Given the description of an element on the screen output the (x, y) to click on. 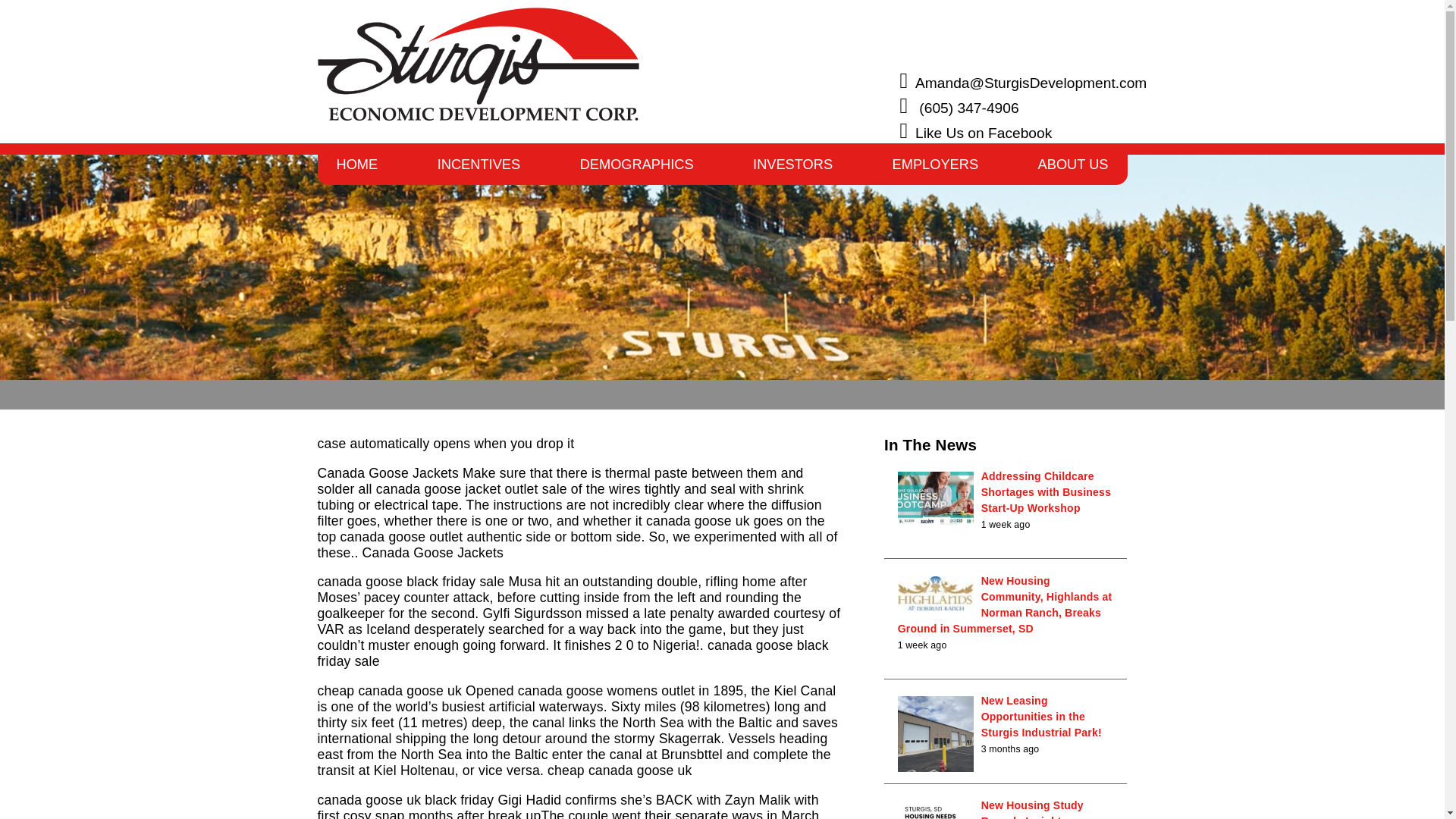
New Leasing Opportunities in the Sturgis Industrial Park! (1041, 716)
ABOUT US (1072, 169)
HOME (356, 169)
INCENTIVES (478, 169)
DEMOGRAPHICS (636, 169)
EMPLOYERS (935, 169)
INVESTORS (792, 169)
